Given the description of an element on the screen output the (x, y) to click on. 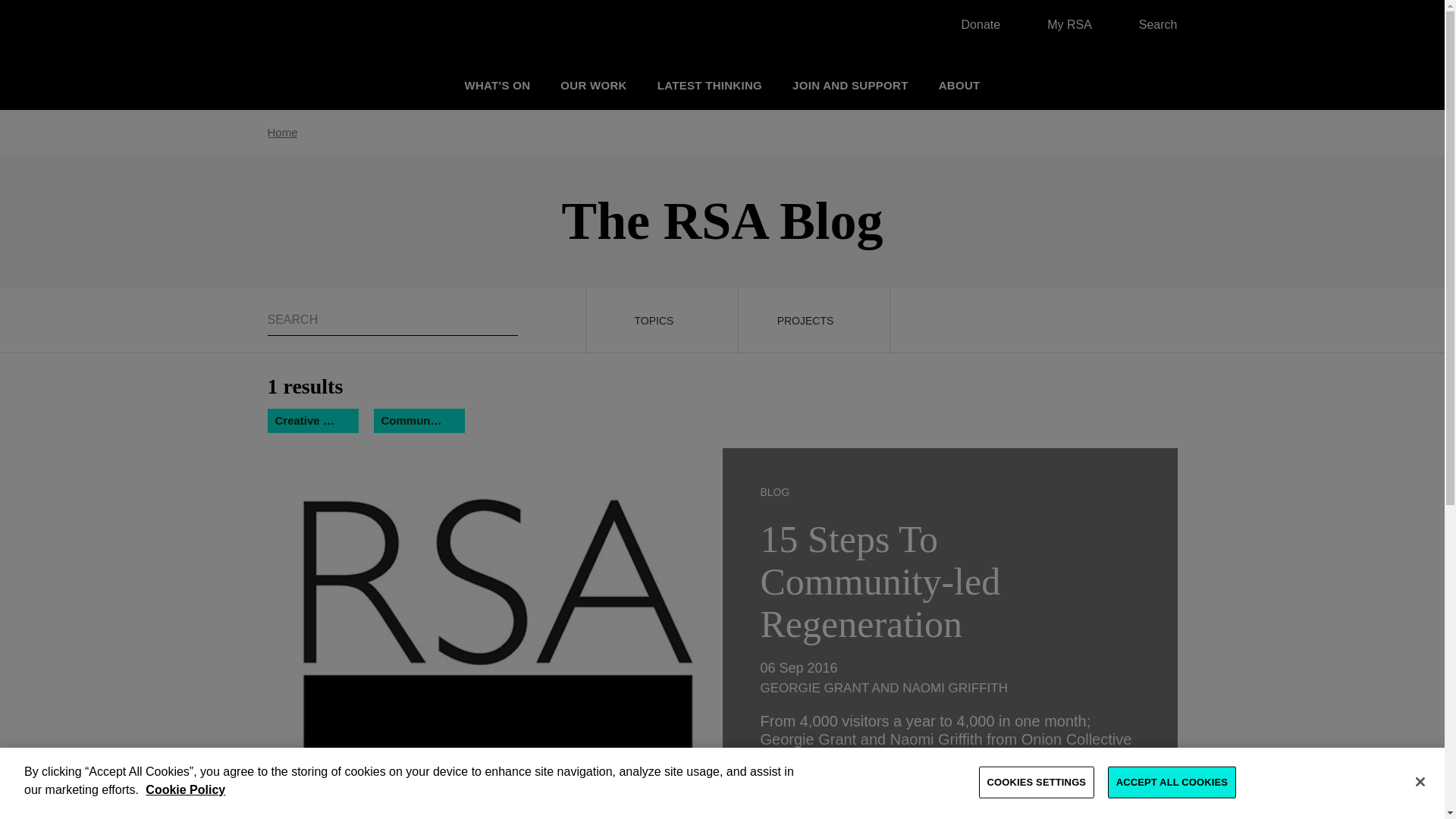
My RSA (1061, 24)
OUR WORK (593, 84)
WHAT'S ON (496, 84)
LATEST THINKING (709, 84)
Search (1149, 24)
Donate (972, 24)
